Given the description of an element on the screen output the (x, y) to click on. 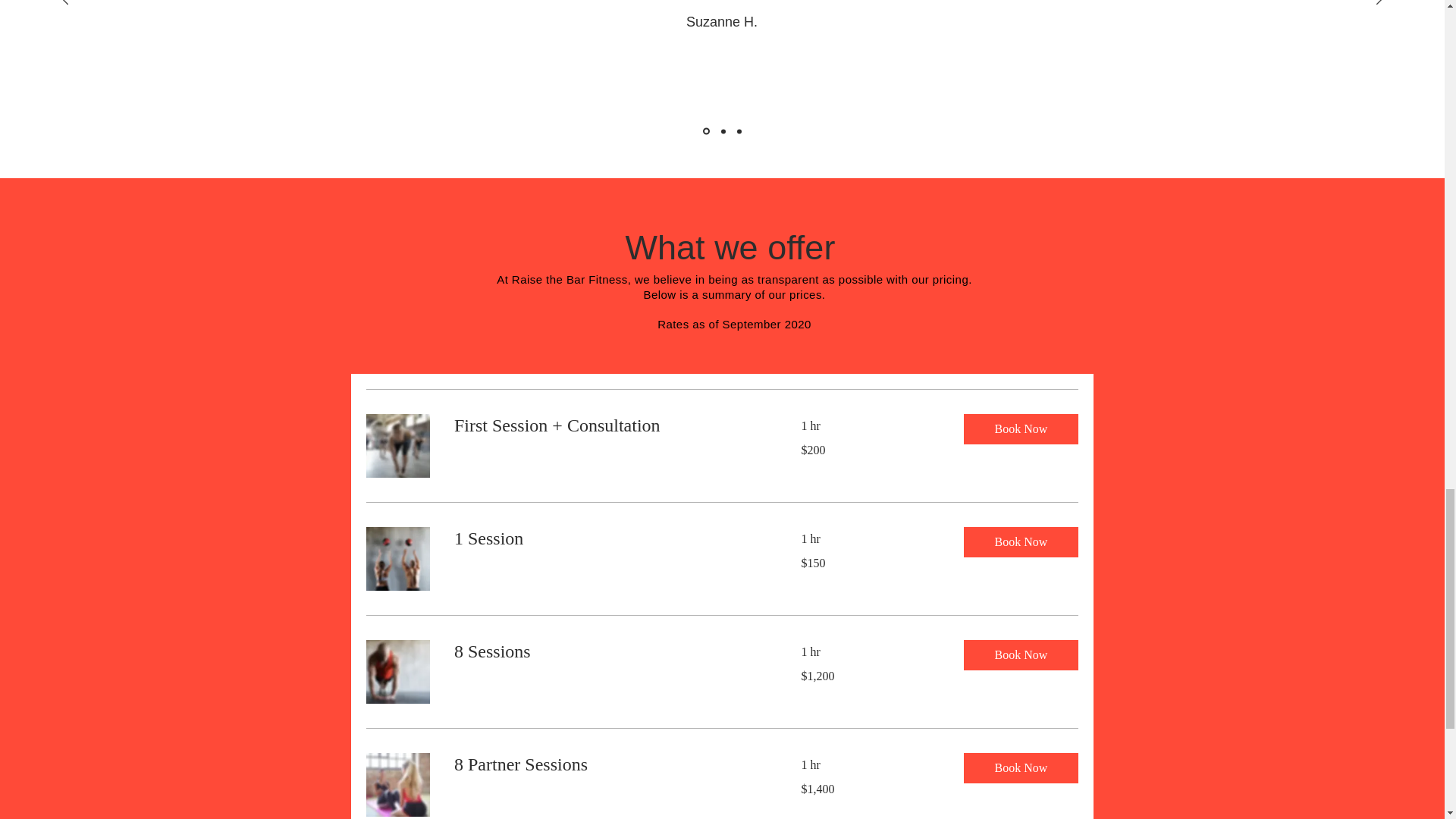
Book Now (1019, 654)
1 Session (608, 539)
8 Partner Sessions (608, 764)
Book Now (1019, 429)
Book Now (1019, 767)
Book Now (1019, 542)
8 Sessions (608, 651)
